Given the description of an element on the screen output the (x, y) to click on. 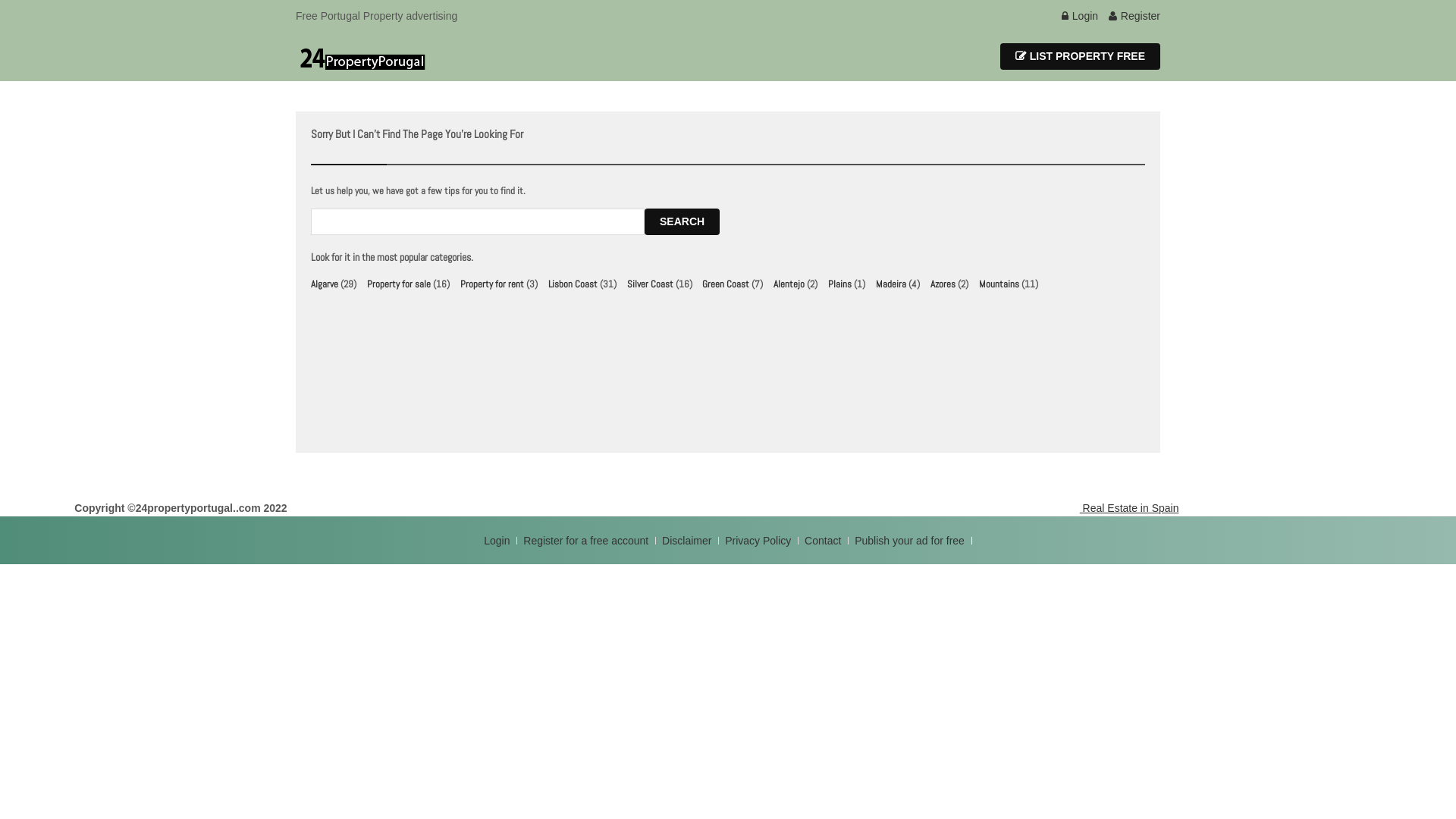
Plains Element type: text (839, 283)
Madeira Element type: text (890, 283)
Azores Element type: text (942, 283)
Lisbon Coast Element type: text (572, 283)
Silver Coast Element type: text (650, 283)
Property for rent Element type: text (492, 283)
Publish your ad for free Element type: text (910, 540)
Login Element type: text (1079, 15)
Disclaimer Element type: text (686, 540)
Register Element type: text (1134, 15)
Green Coast Element type: text (725, 283)
Privacy Policy Element type: text (758, 540)
  Real Estate in Spain Element type: text (1127, 508)
LIST PROPERTY FREE Element type: text (1080, 56)
Mountains Element type: text (999, 283)
SEARCH Element type: text (681, 221)
Alentejo Element type: text (788, 283)
Property for sale Element type: text (398, 283)
Login Element type: text (497, 540)
Algarve Element type: text (324, 283)
Register for a free account Element type: text (587, 540)
Contact Element type: text (824, 540)
